Given the description of an element on the screen output the (x, y) to click on. 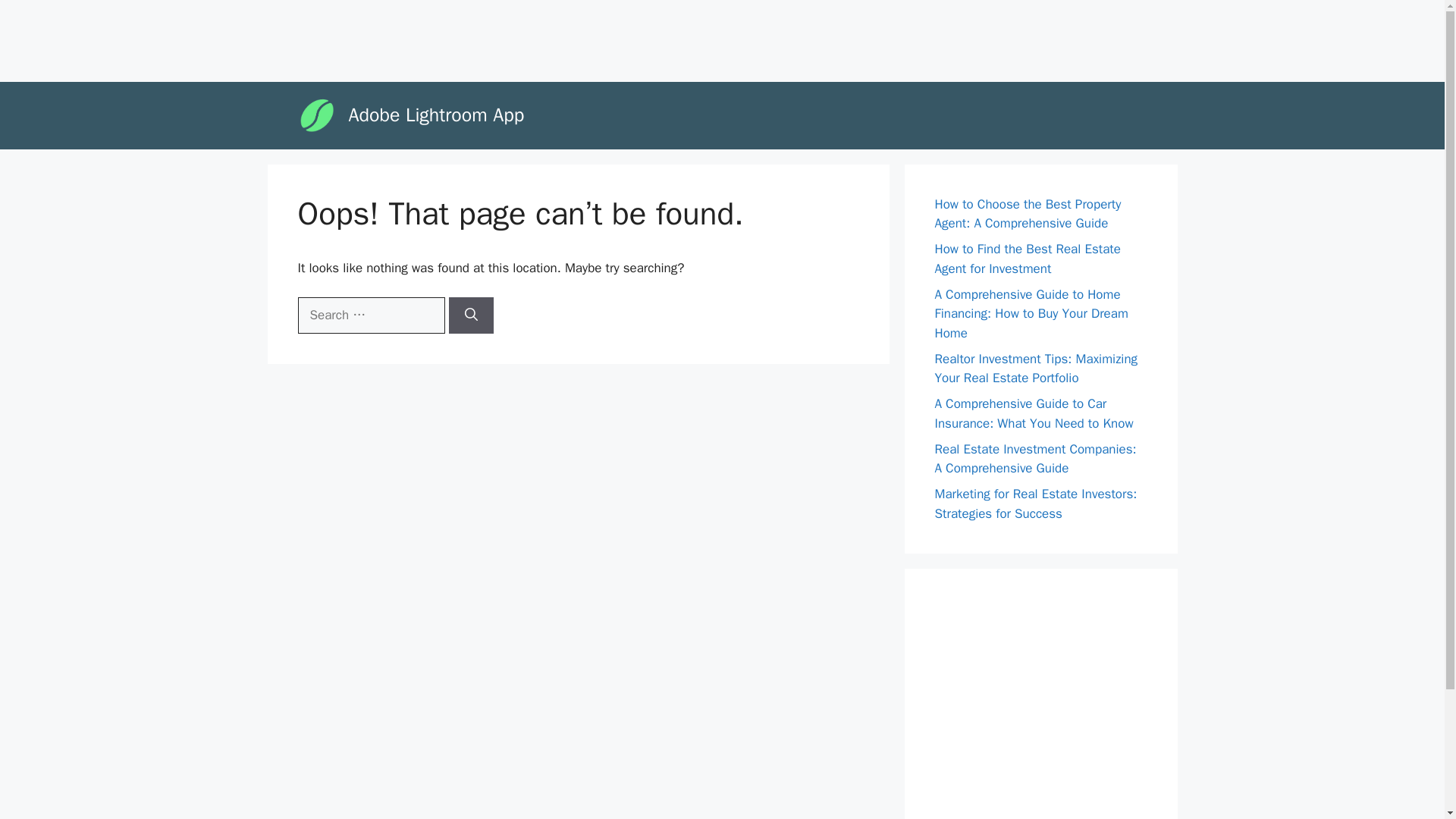
Advertisement (284, 38)
How to Find the Best Real Estate Agent for Investment (1026, 258)
Search for: (370, 315)
Marketing for Real Estate Investors: Strategies for Success (1035, 503)
How to Choose the Best Property Agent: A Comprehensive Guide (1027, 213)
Real Estate Investment Companies: A Comprehensive Guide (1034, 458)
Adobe Lightroom App (436, 114)
